Given the description of an element on the screen output the (x, y) to click on. 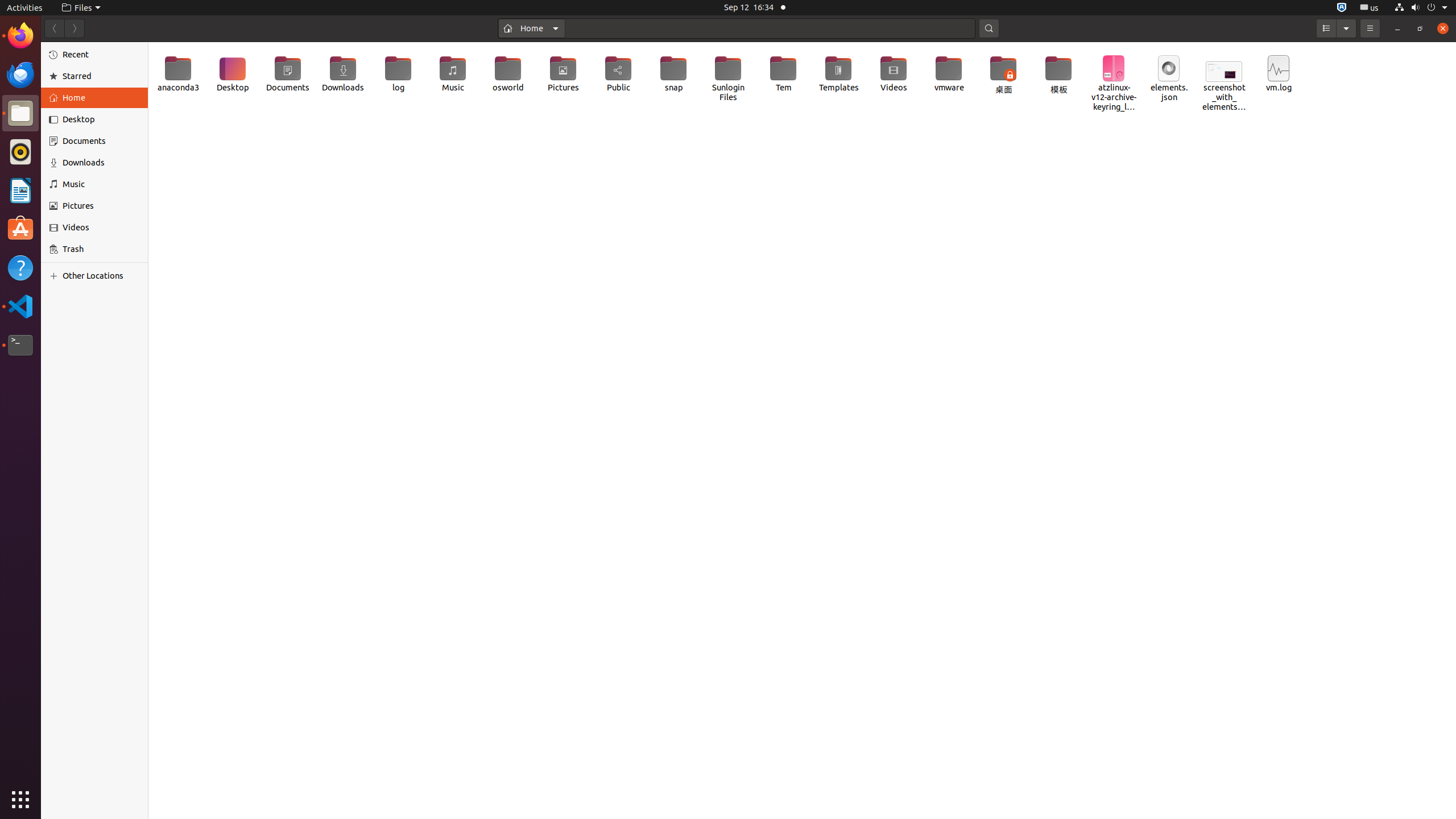
Music Element type: label (100, 184)
Minimize Element type: push-button (1397, 27)
log Element type: canvas (397, 73)
Templates Element type: canvas (838, 73)
